Given the description of an element on the screen output the (x, y) to click on. 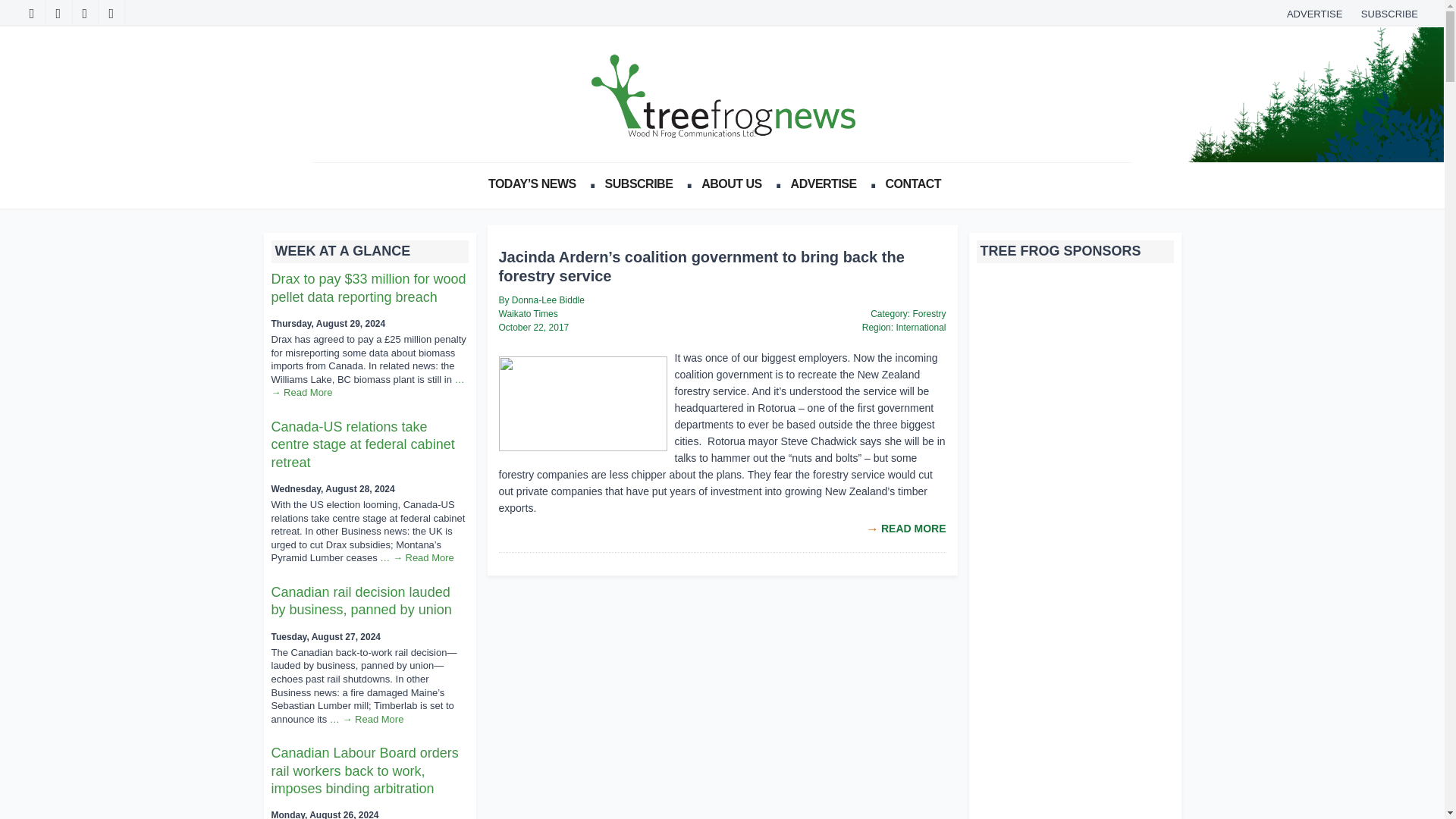
Canadian rail decision lauded by business, panned by union (360, 600)
ADVERTISE (1314, 13)
ABOUT US (735, 183)
CONTACT (917, 183)
SUBSCRIBE (643, 183)
SUBSCRIBE (1389, 13)
READ MORE (913, 528)
ADVERTISE (827, 183)
